Given the description of an element on the screen output the (x, y) to click on. 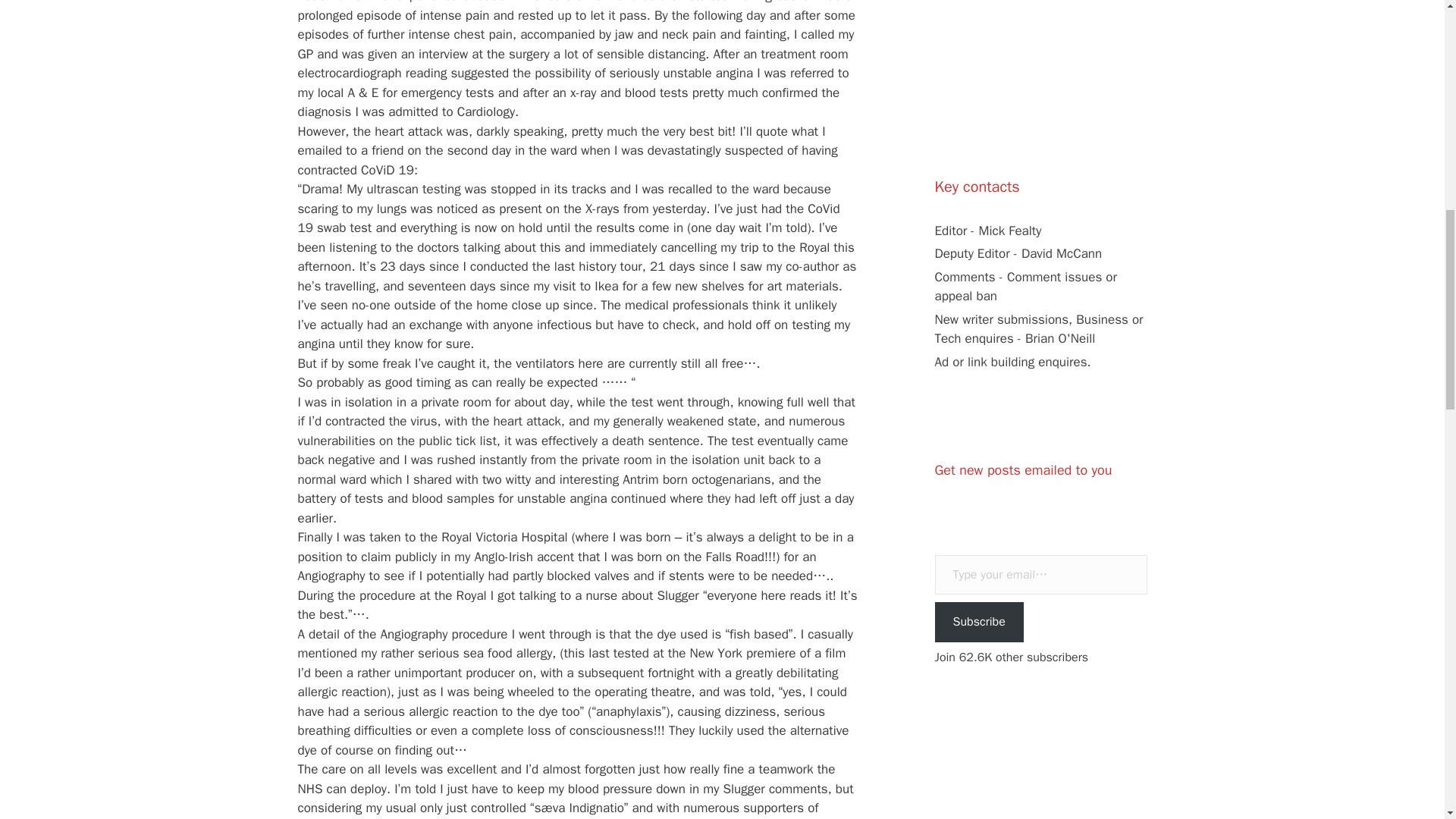
Please fill in this field. (1040, 575)
